Given the description of an element on the screen output the (x, y) to click on. 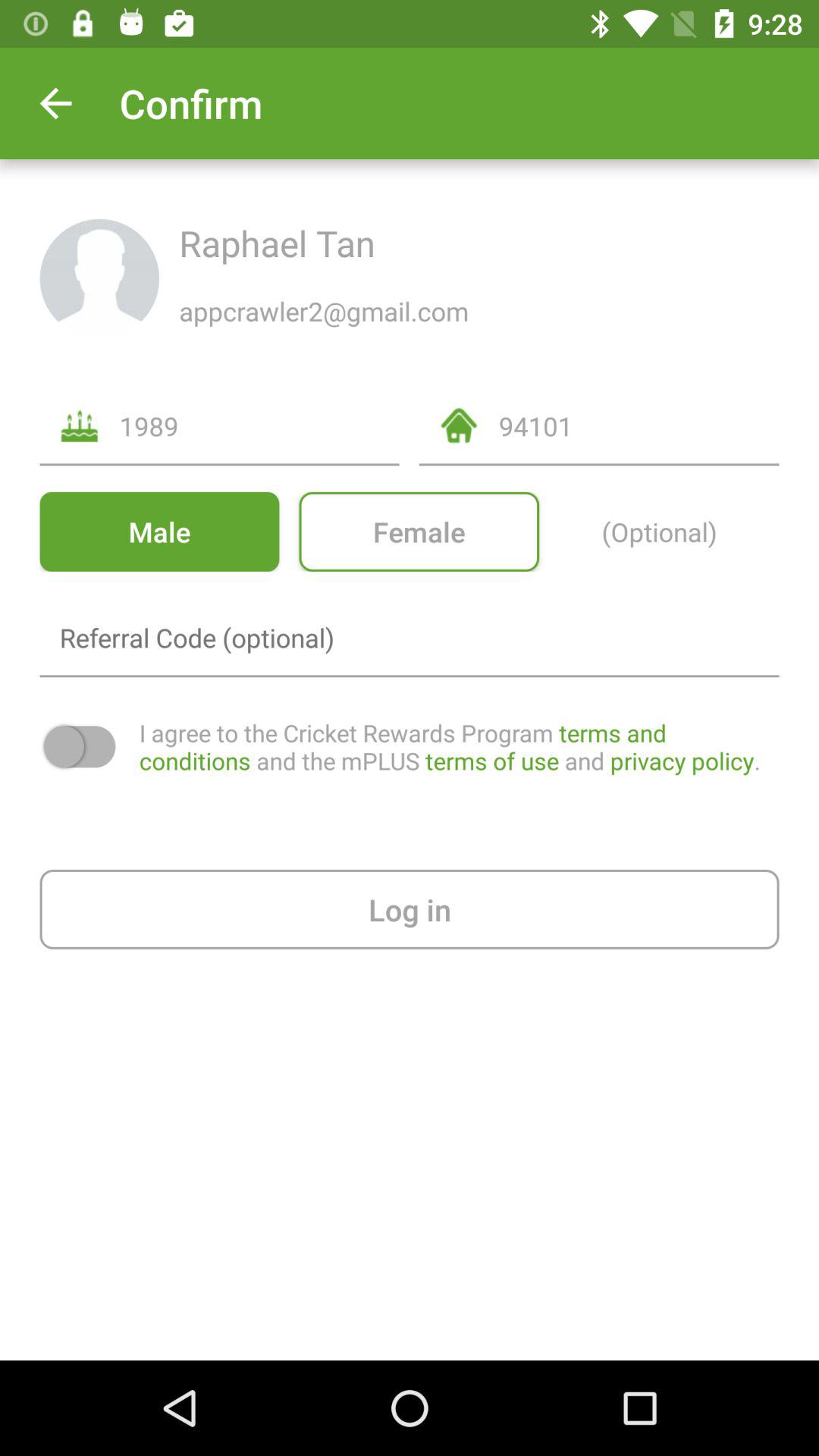
tap the item to the left of the female icon (159, 531)
